Given the description of an element on the screen output the (x, y) to click on. 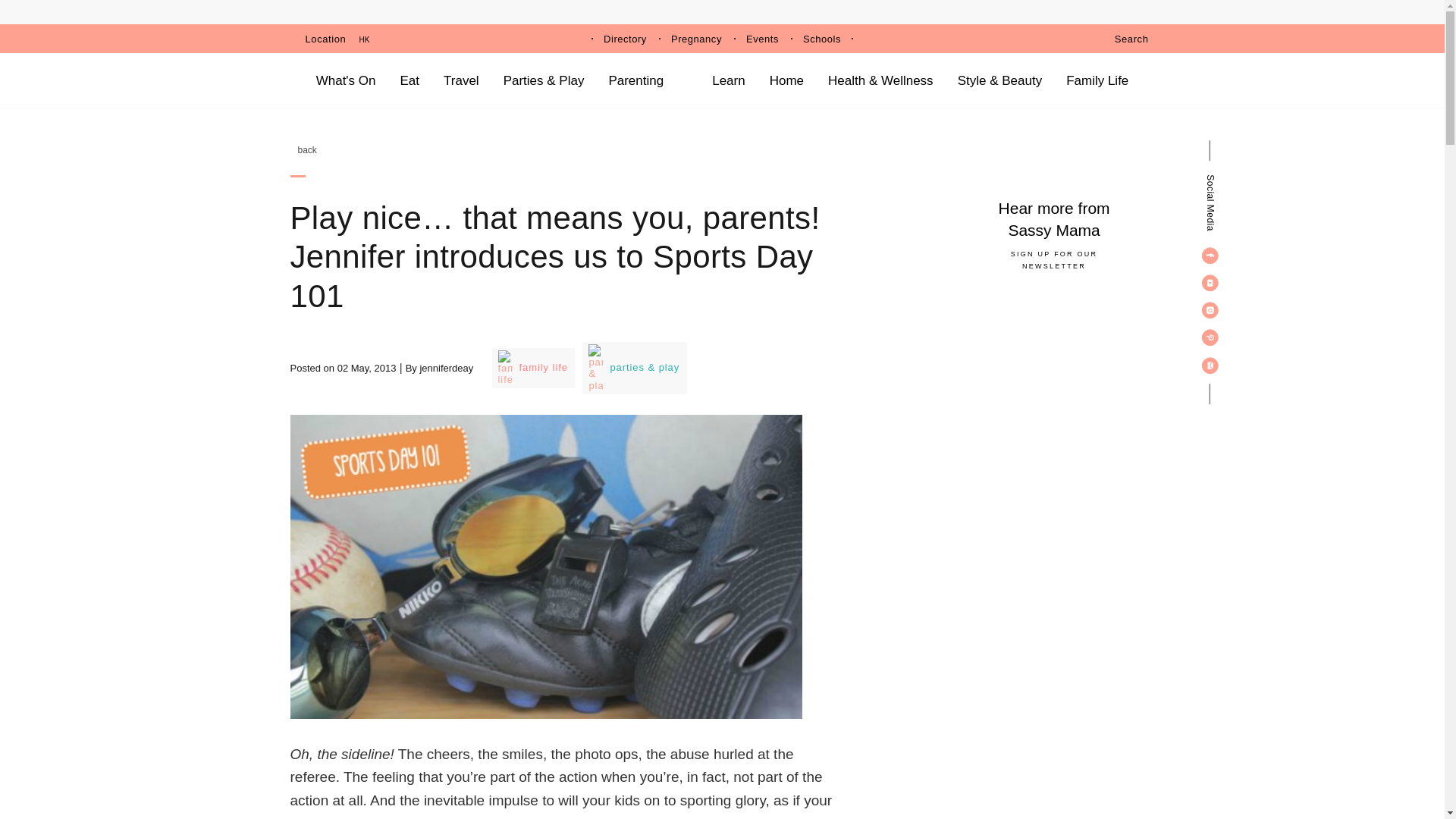
Sassy Mama Instagram (1209, 309)
Eat (410, 80)
Directory (625, 39)
Travel (461, 80)
Pregnancy (696, 39)
Sassy Mama Pinterest (1209, 337)
Events (761, 39)
Sassy Mama Youtube (1209, 282)
Sassy Mama Facebook Page (1209, 255)
What's On (345, 80)
